Given the description of an element on the screen output the (x, y) to click on. 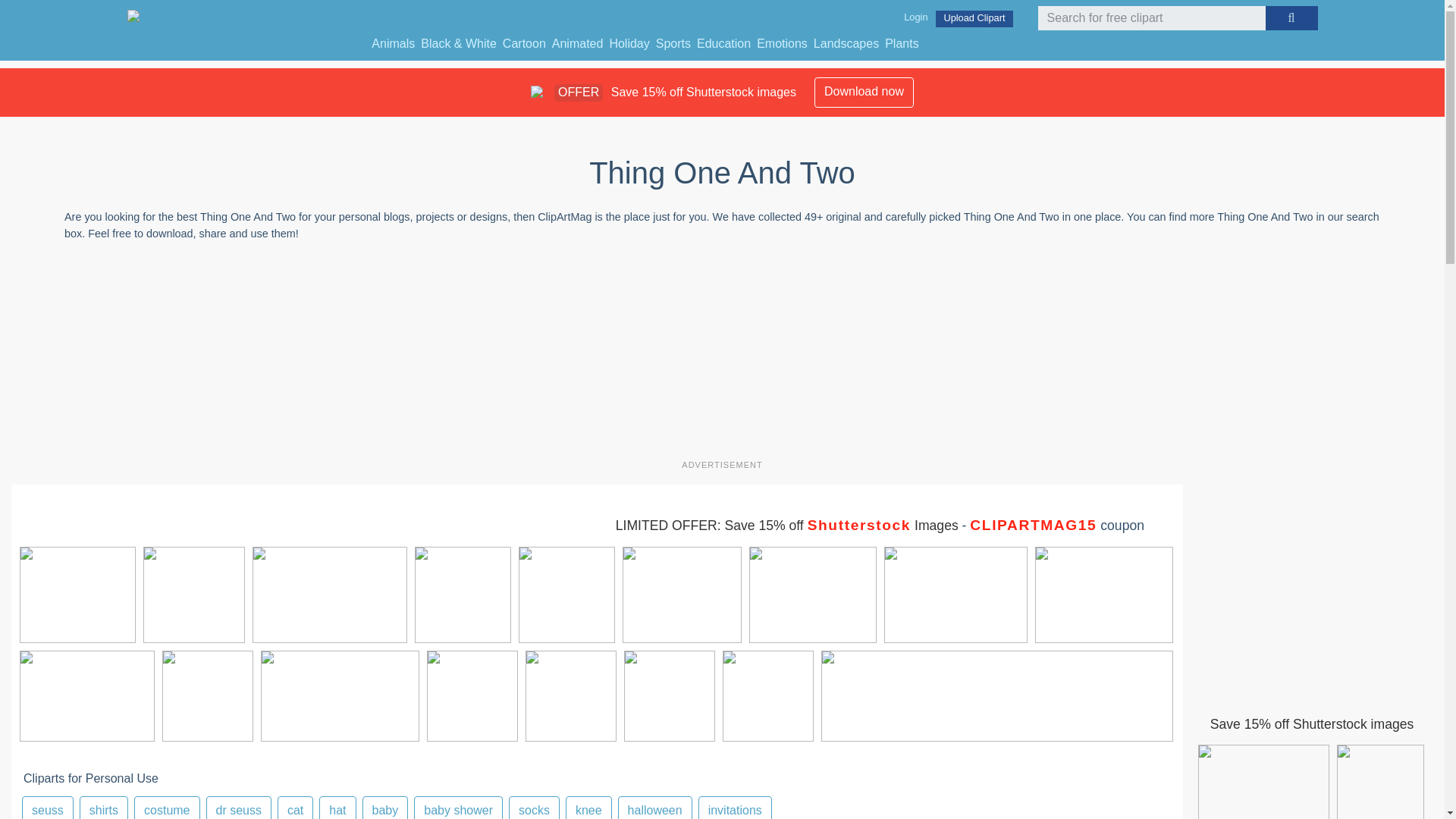
Coupon code (786, 525)
Cartoon (523, 43)
Education (724, 43)
Animals (392, 43)
Upload Clipart (973, 18)
Login (915, 17)
